Given the description of an element on the screen output the (x, y) to click on. 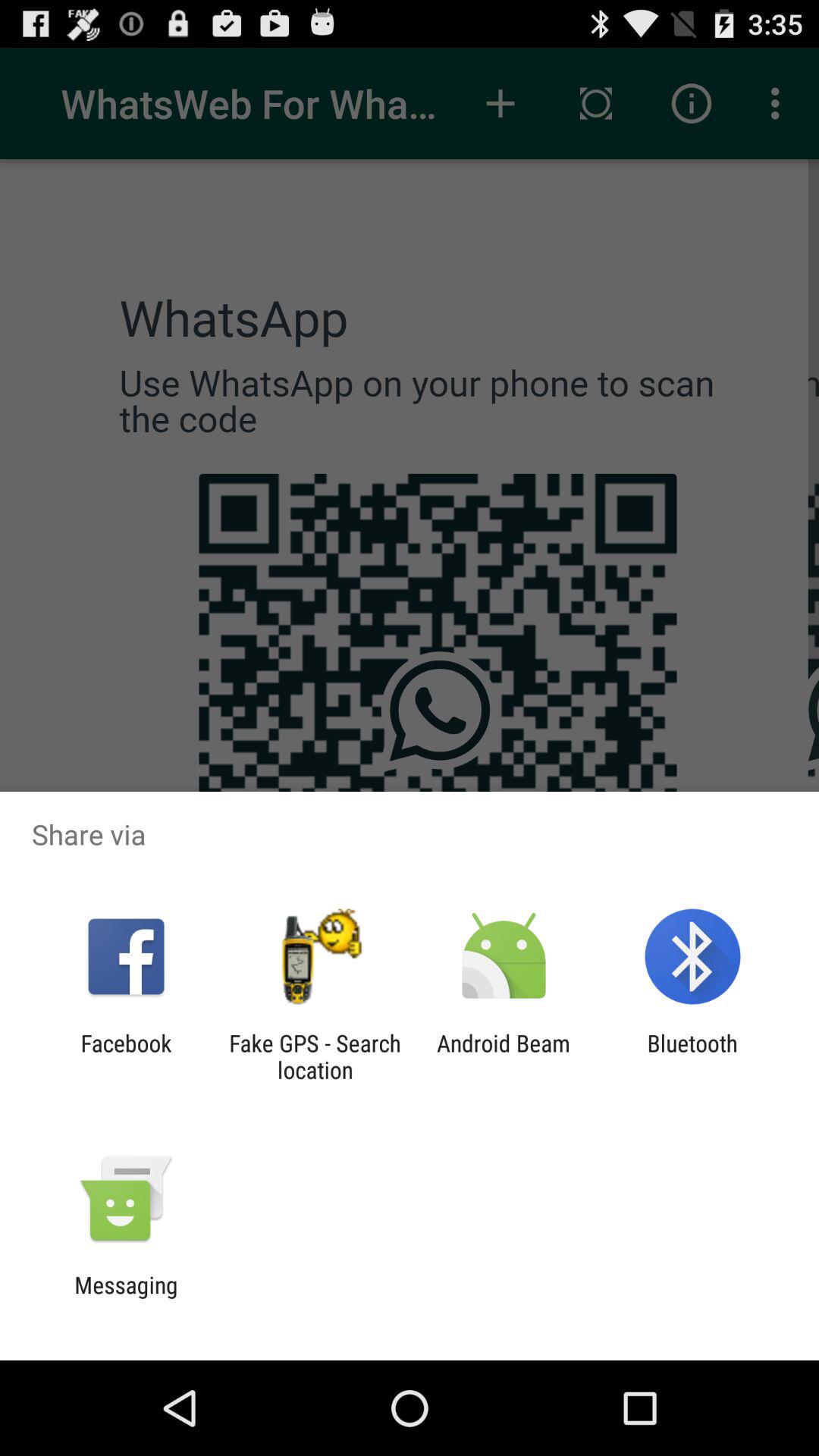
open the item next to the fake gps search icon (503, 1056)
